Given the description of an element on the screen output the (x, y) to click on. 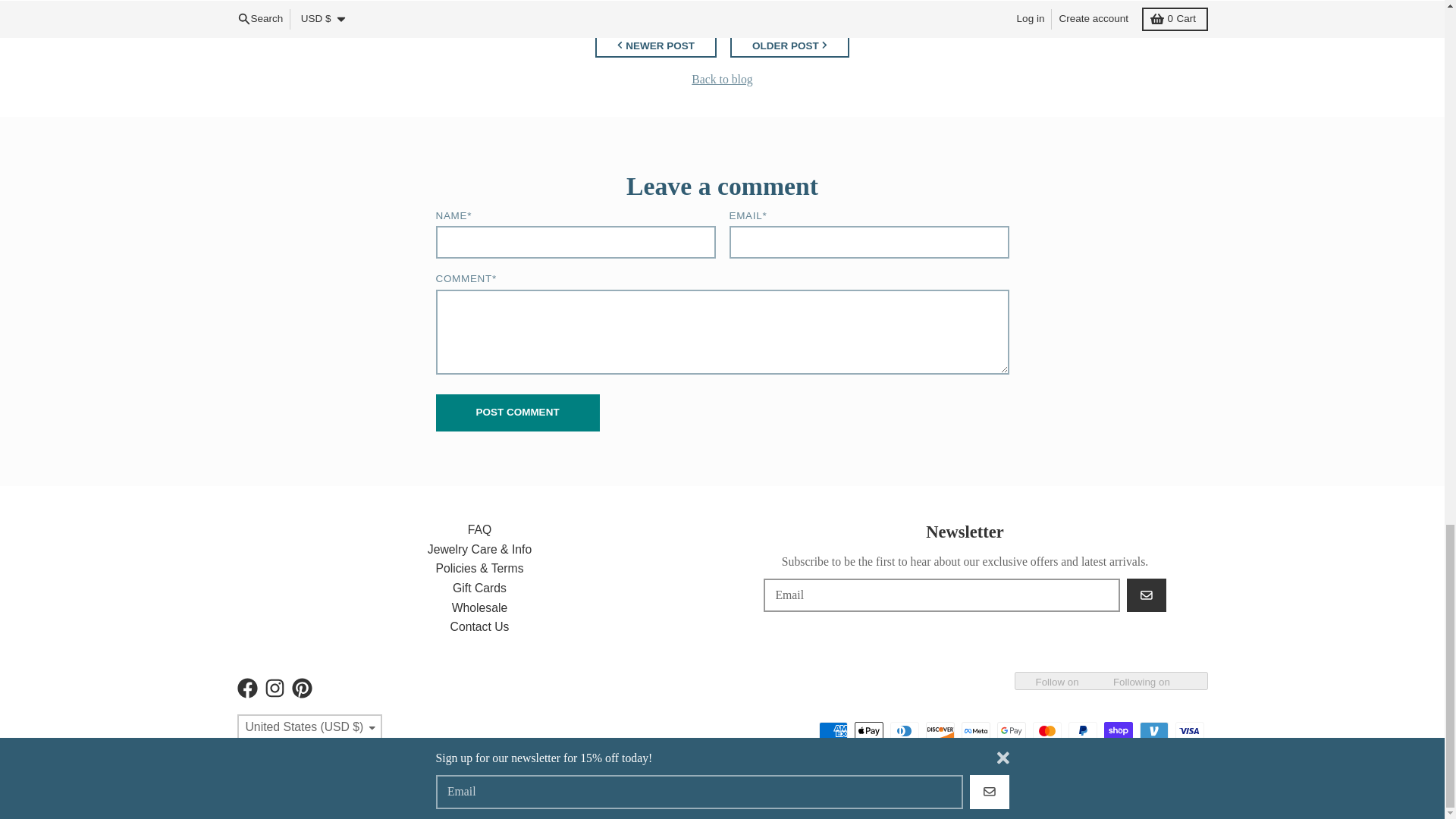
Post comment (516, 412)
Facebook - Pure Impressions Design (246, 688)
Pinterest - Pure Impressions Design (301, 688)
Instagram - Pure Impressions Design (273, 688)
